Given the description of an element on the screen output the (x, y) to click on. 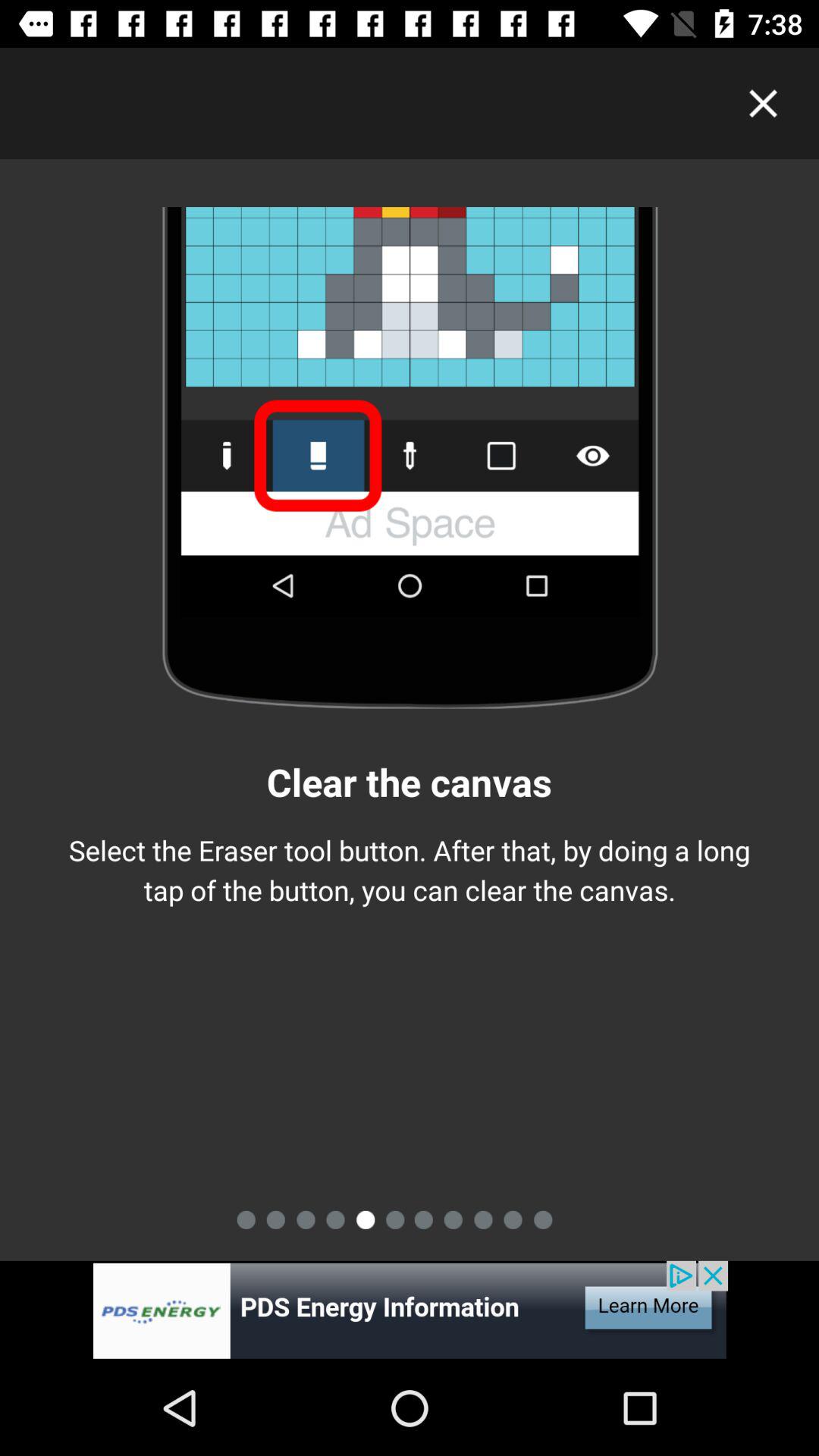
close (763, 103)
